Given the description of an element on the screen output the (x, y) to click on. 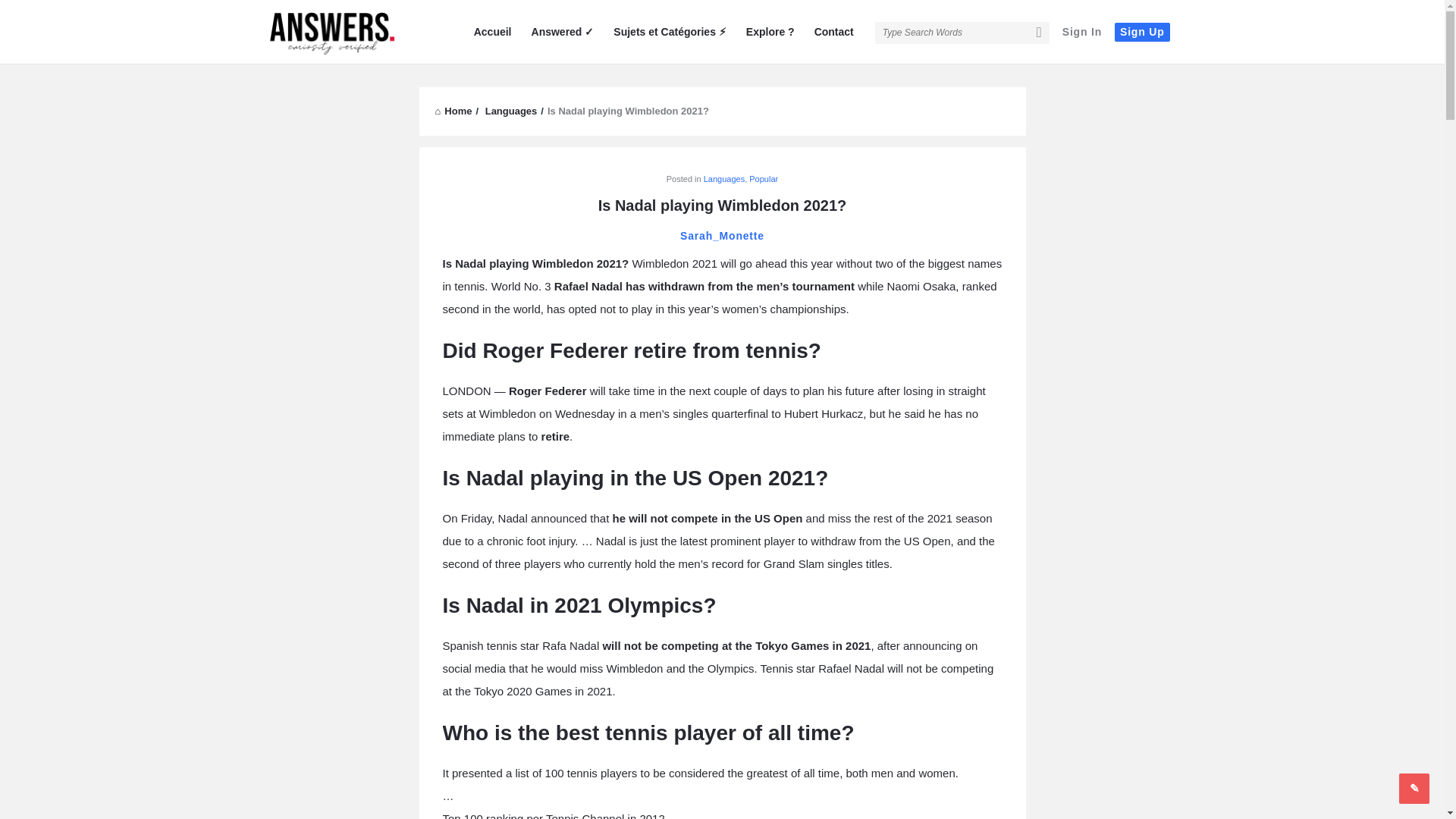
Languages (510, 111)
Sign Up (1142, 31)
Ask a question (1414, 788)
Explore ? (769, 32)
Accueil (492, 32)
Contact (834, 32)
Sign In (1081, 31)
Home (453, 111)
